Given the description of an element on the screen output the (x, y) to click on. 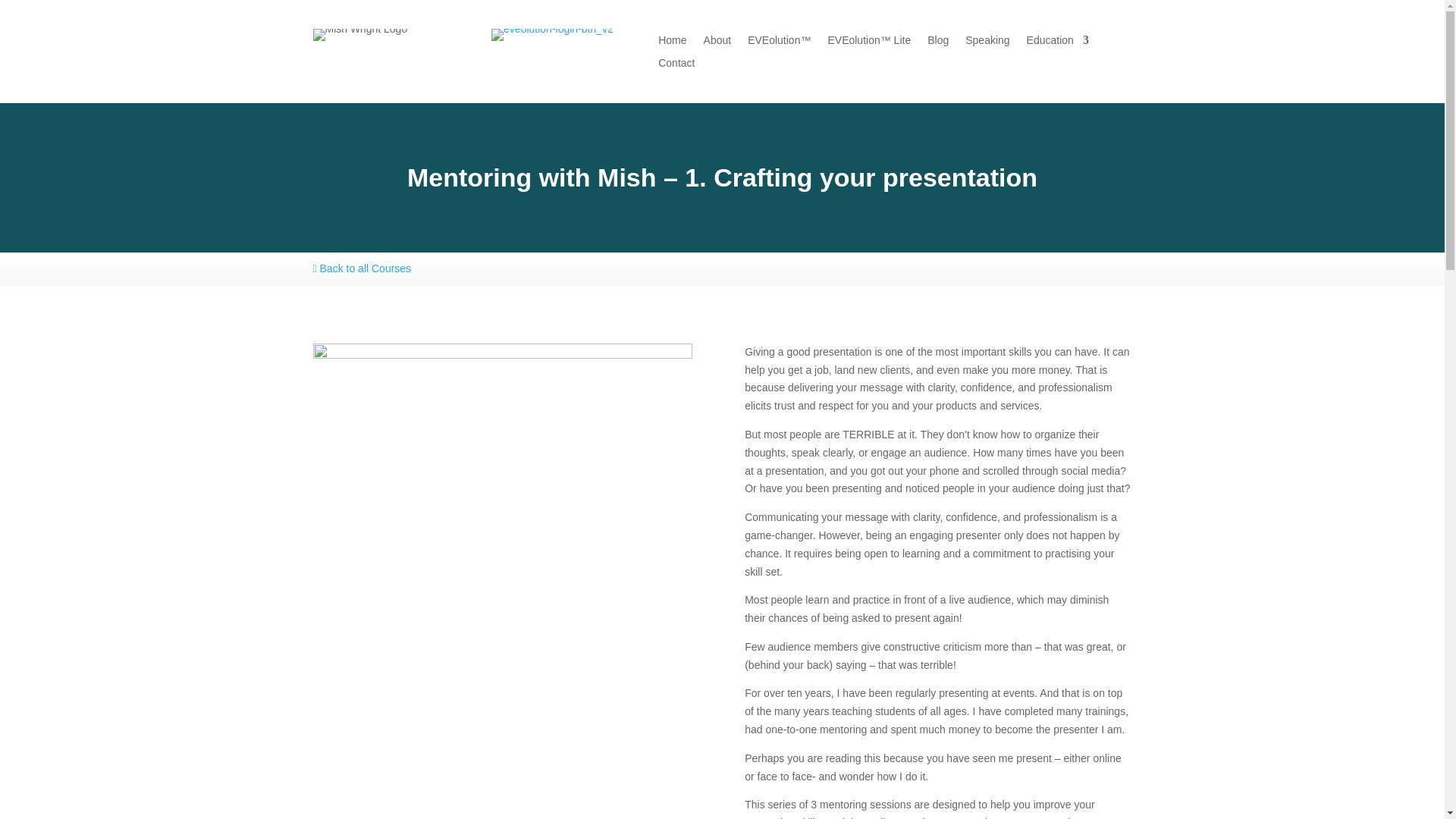
Contact (676, 65)
Home (671, 43)
About (717, 43)
Back to all Courses (361, 268)
Blog (938, 43)
Speaking (987, 43)
Education (1057, 43)
